Given the description of an element on the screen output the (x, y) to click on. 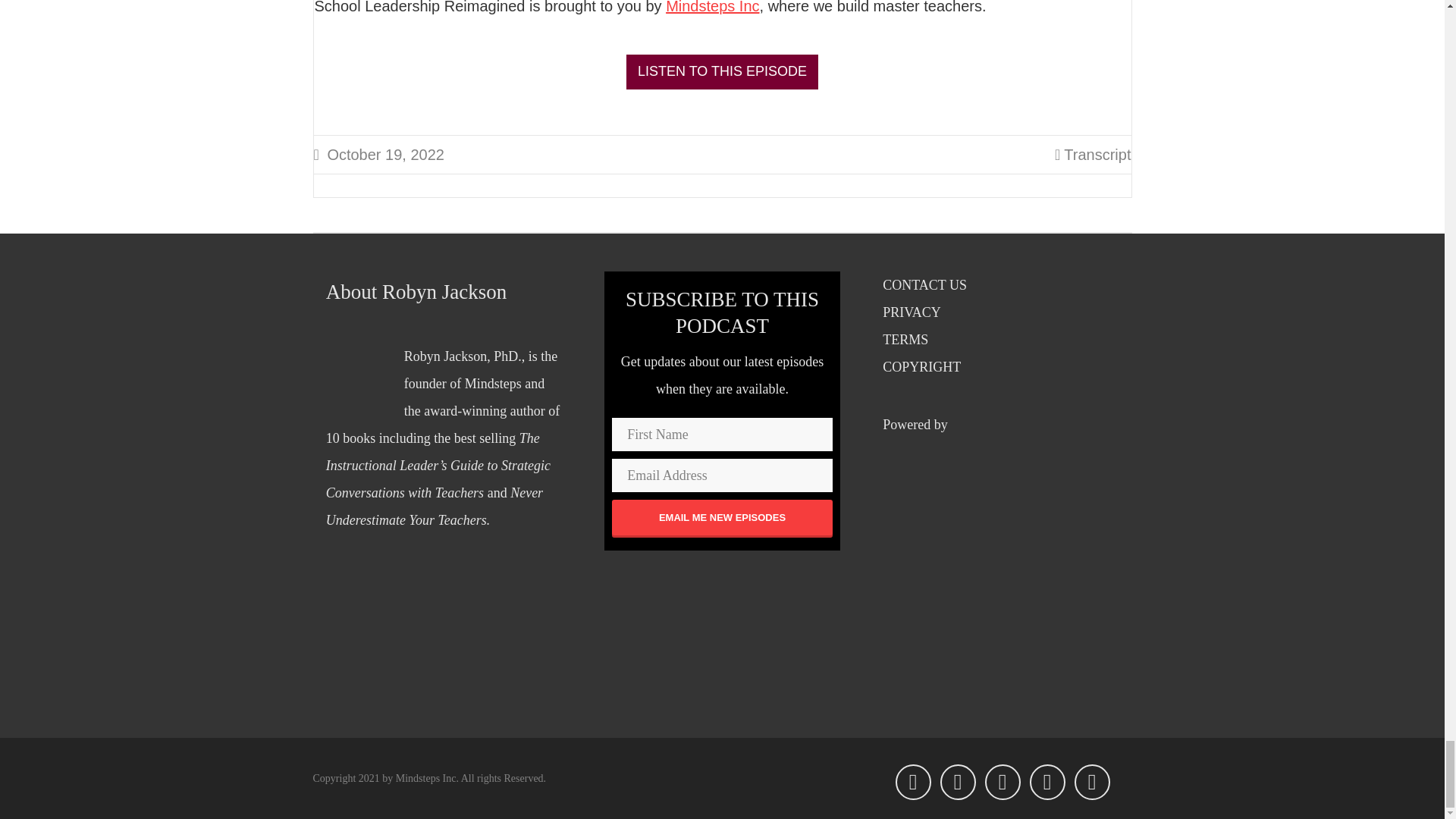
Transcript (1097, 154)
COPYRIGHT (921, 366)
TERMS (905, 339)
LISTEN TO THIS EPISODE (722, 71)
Mindsteps (492, 383)
EMAIL ME NEW EPISODES (721, 517)
EMAIL ME NEW EPISODES (721, 517)
PRIVACY (911, 312)
CONTACT US (924, 284)
Mindsteps Inc (711, 7)
